Given the description of an element on the screen output the (x, y) to click on. 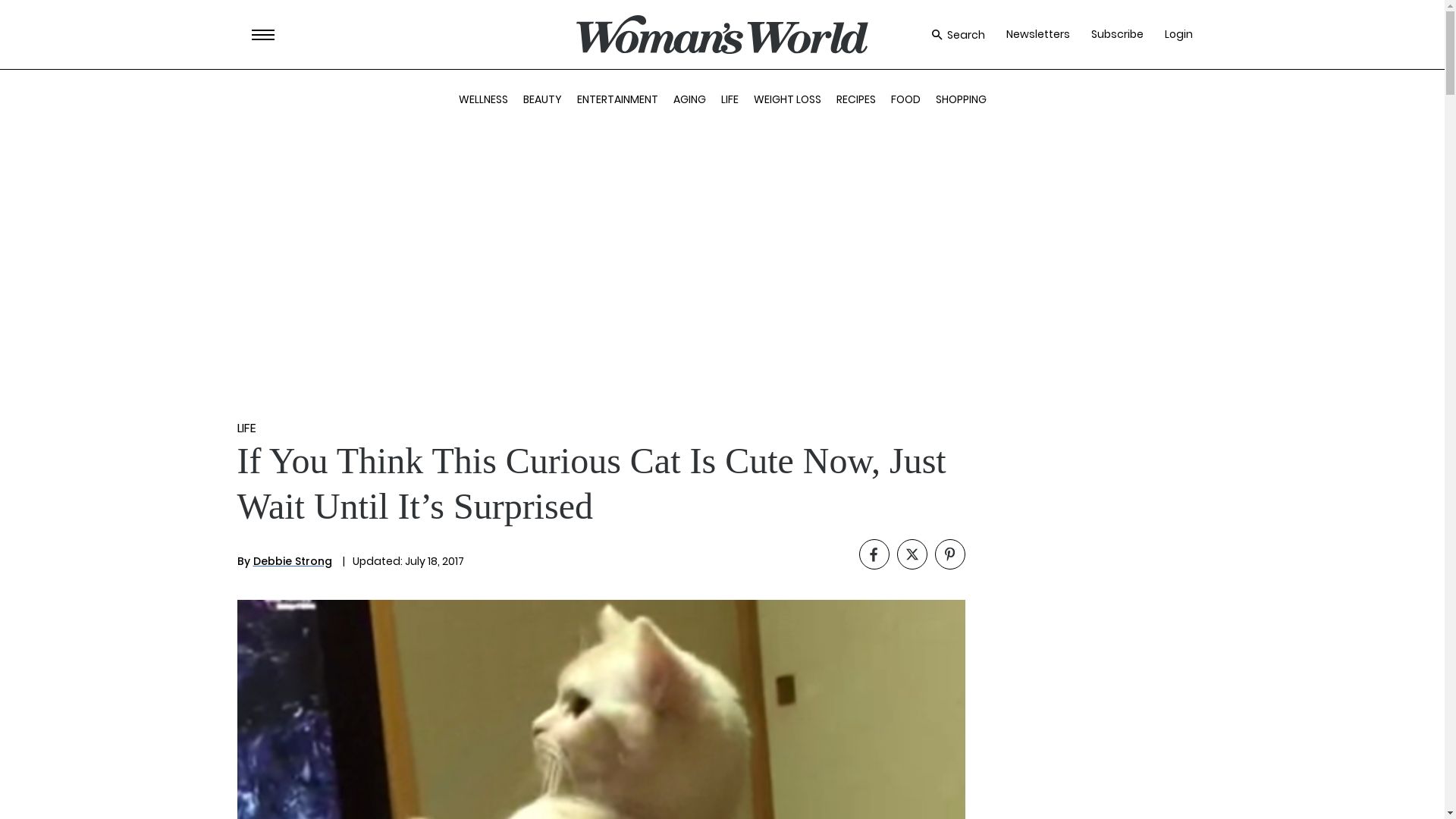
Click to share on Pinterest (948, 553)
Click to share on Twitter (911, 553)
Click to share on Facebook (873, 553)
